Given the description of an element on the screen output the (x, y) to click on. 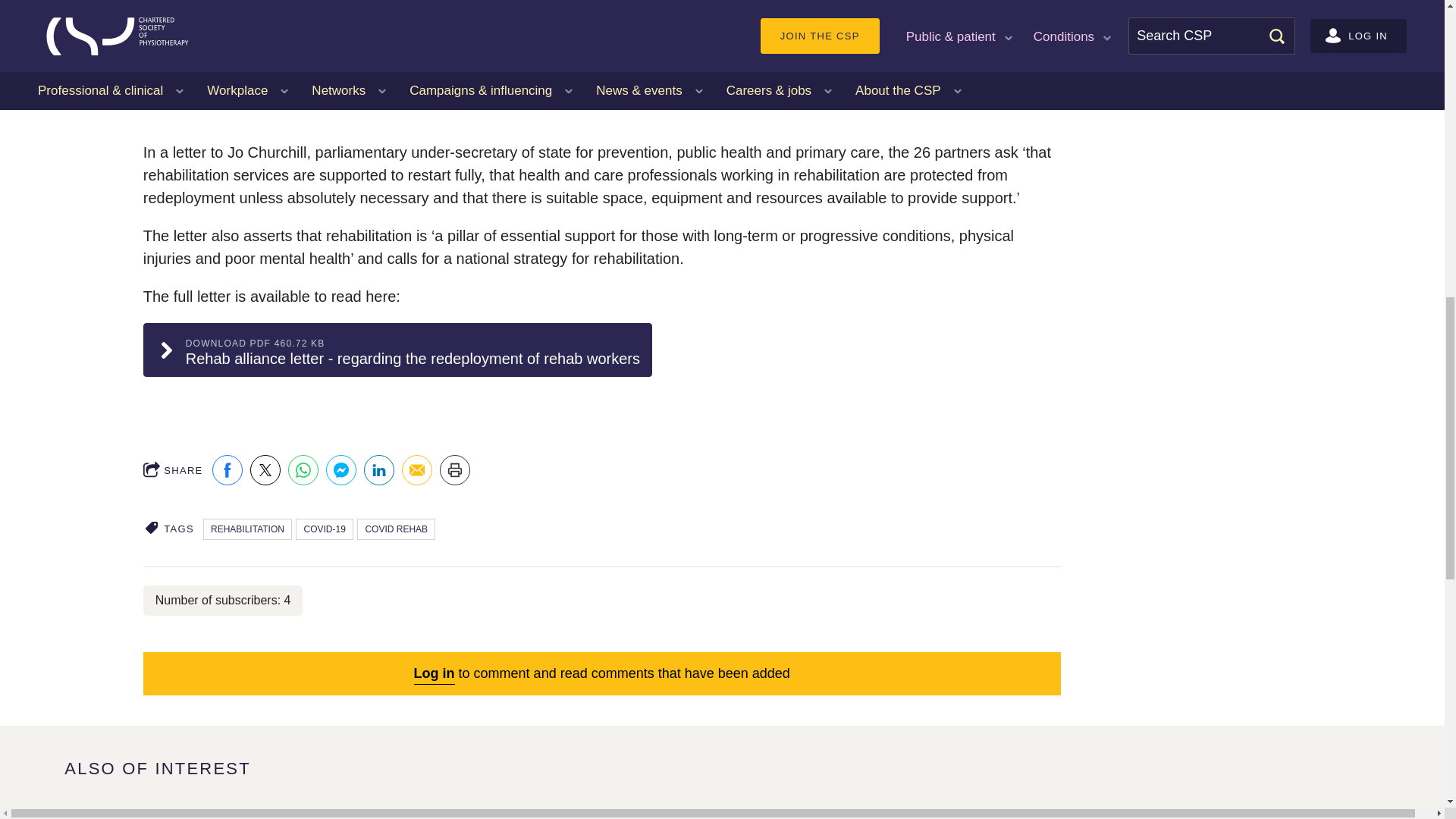
Linkedin (379, 470)
WhatsApp (303, 470)
Facebook messenger (341, 470)
Right to Rehab after Covid-19 (597, 63)
Facebook (227, 470)
Email (416, 470)
